Given the description of an element on the screen output the (x, y) to click on. 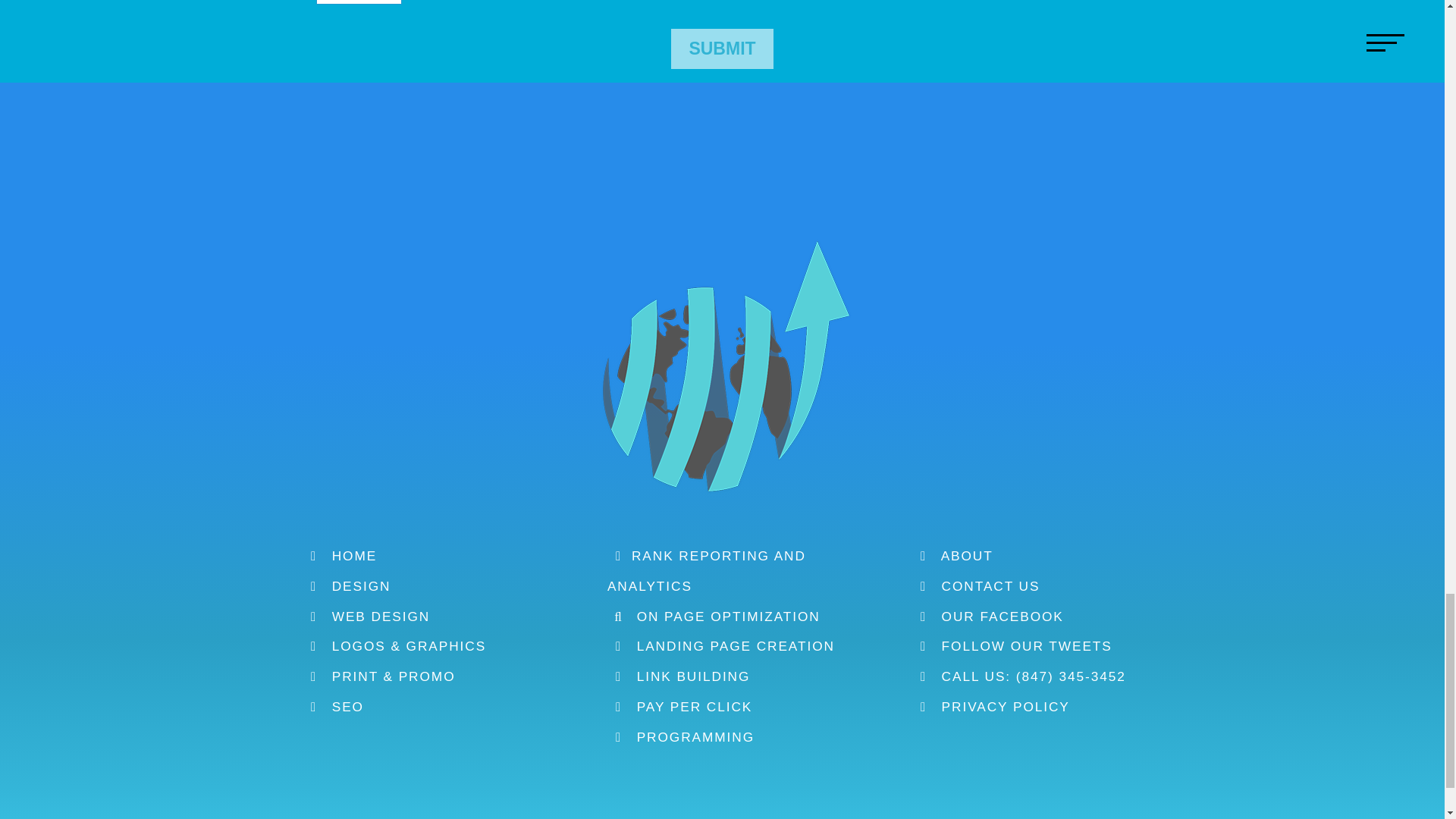
SELECT ALL (358, 2)
HOME (339, 555)
WEB DESIGN (365, 616)
DESIGN (346, 585)
RANK REPORTING AND ANALYTICS (706, 570)
Submit (722, 48)
Submit (722, 48)
ON PAGE OPTIMIZATION (714, 616)
SEO (333, 706)
